Given the description of an element on the screen output the (x, y) to click on. 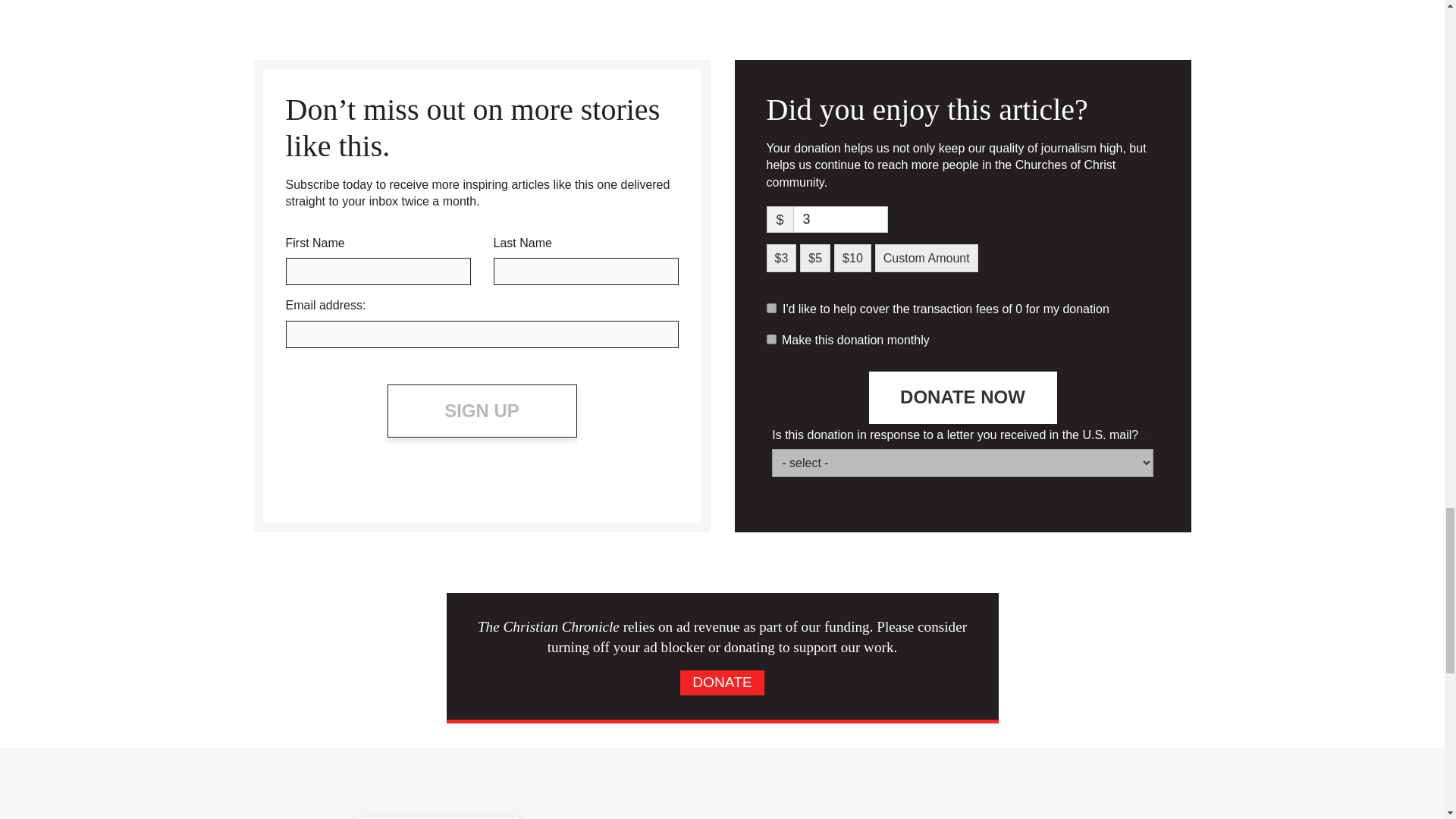
1 (770, 307)
Sign up (481, 410)
3 (840, 219)
on (770, 338)
